Given the description of an element on the screen output the (x, y) to click on. 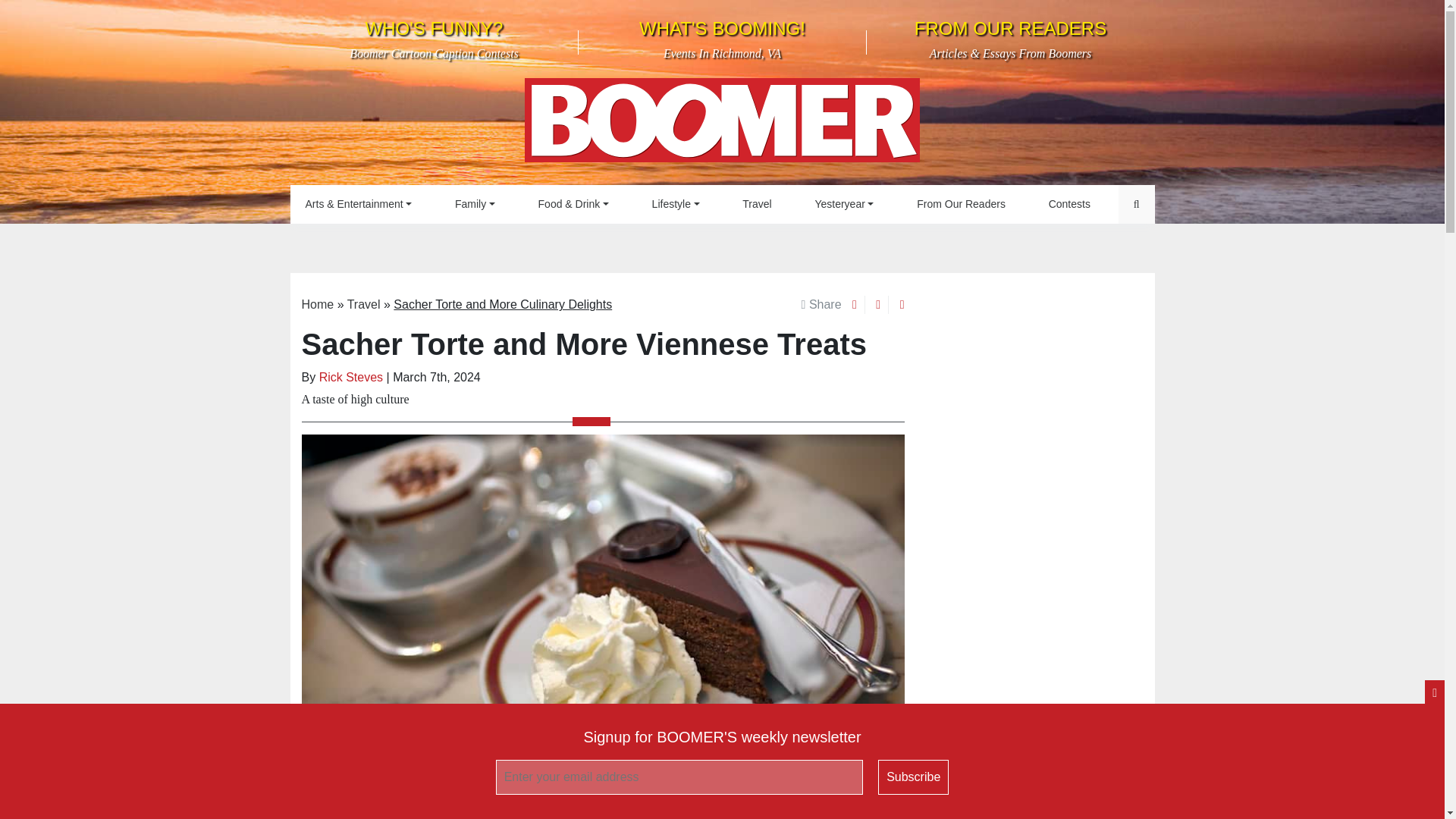
From Our Readers (960, 204)
Lifestyle (675, 204)
Subscribe (913, 777)
Family (475, 204)
Family (722, 39)
Contests (475, 204)
Yesteryear (1069, 204)
Travel (434, 39)
BOOMER Magazine (843, 204)
